Given the description of an element on the screen output the (x, y) to click on. 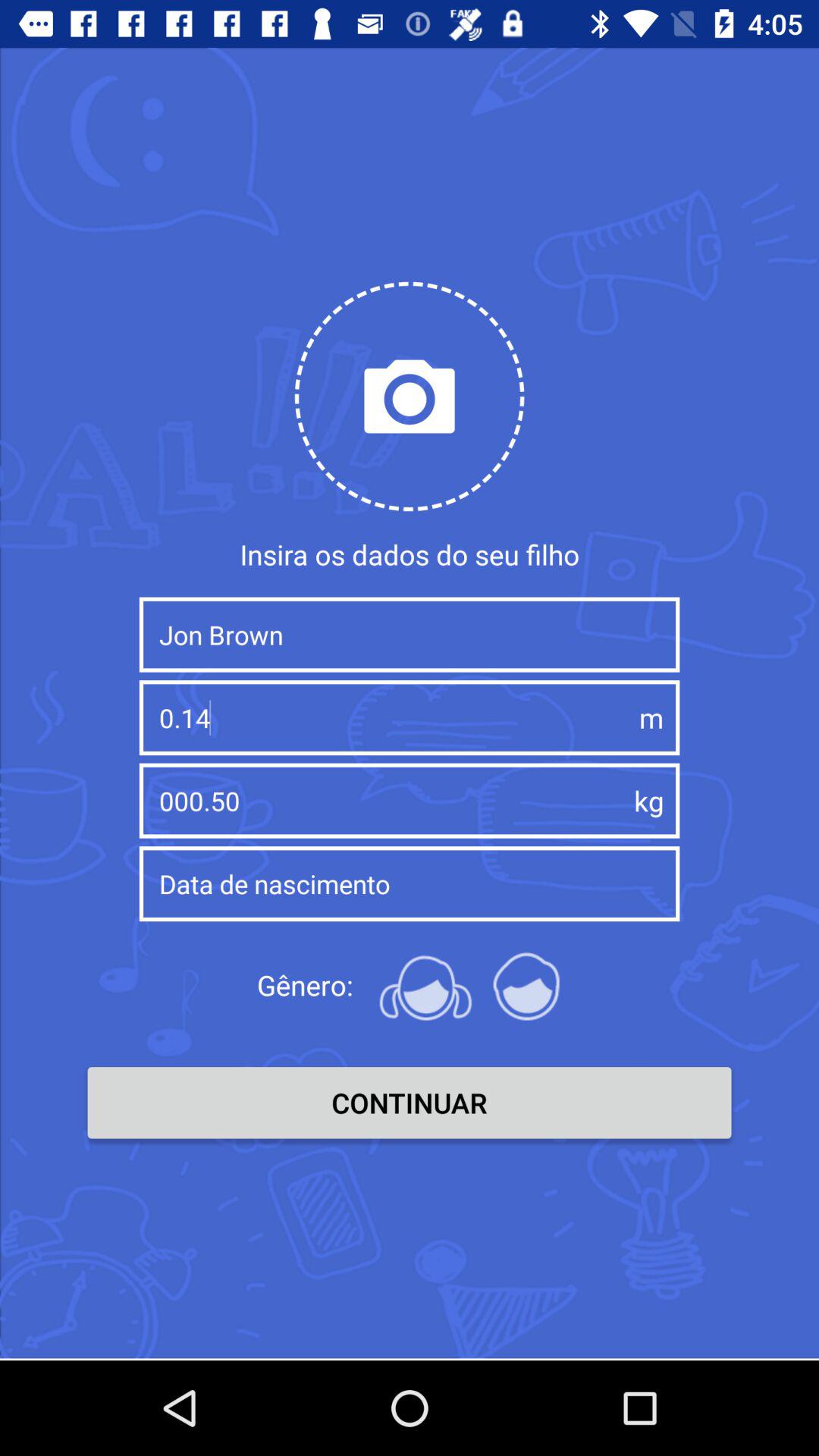
select the female (425, 985)
